Given the description of an element on the screen output the (x, y) to click on. 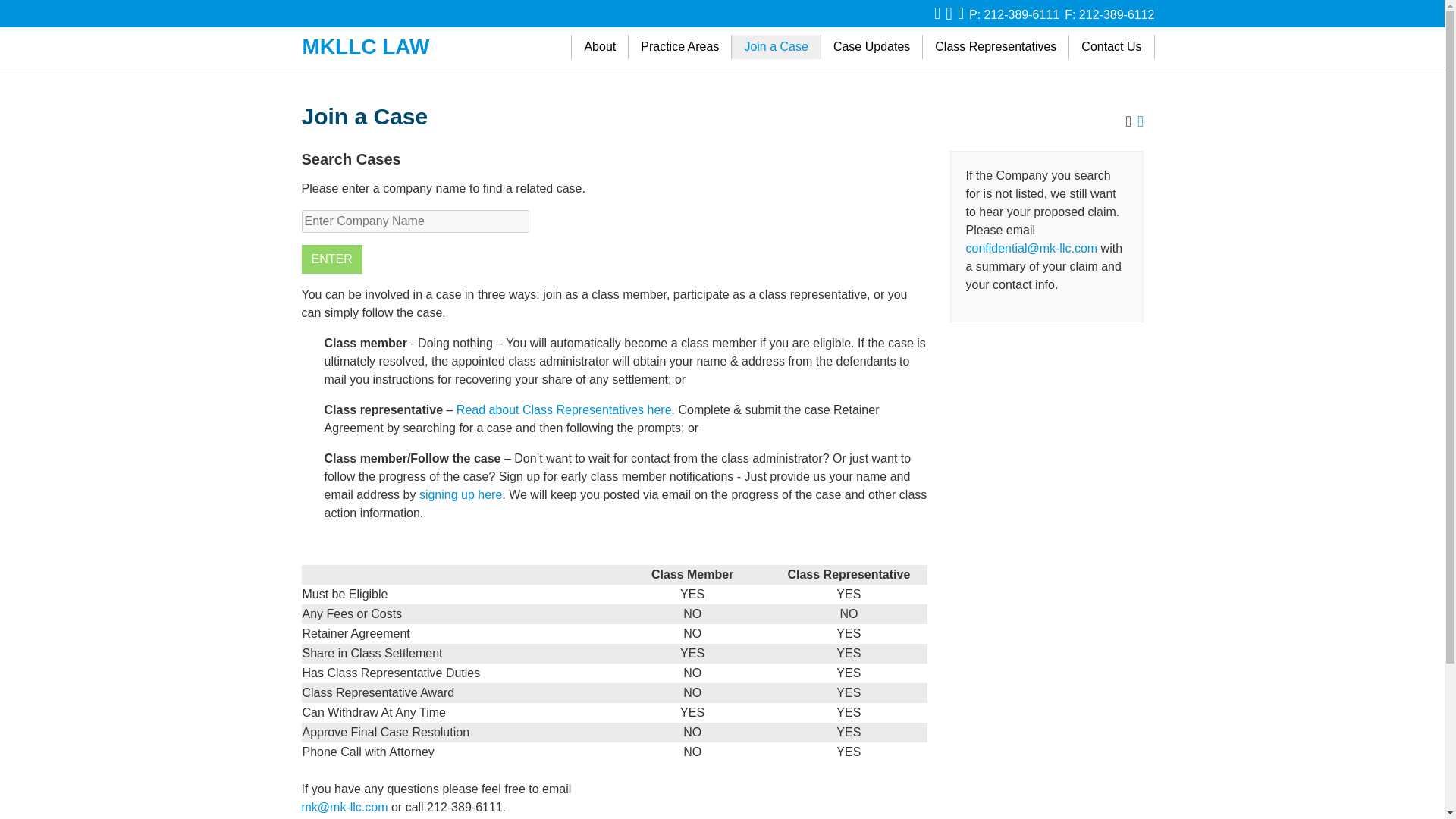
Case Updates (872, 46)
Read about Class Representatives here (564, 409)
ENTER (331, 258)
Practice Areas (680, 46)
signing up here (460, 494)
Join a Case (776, 46)
Class Representatives (995, 46)
MKLLC LAW (365, 46)
query (415, 220)
About (599, 46)
P: 212-389-6111 (1014, 14)
ENTER (331, 258)
Contact Us (1111, 46)
